Given the description of an element on the screen output the (x, y) to click on. 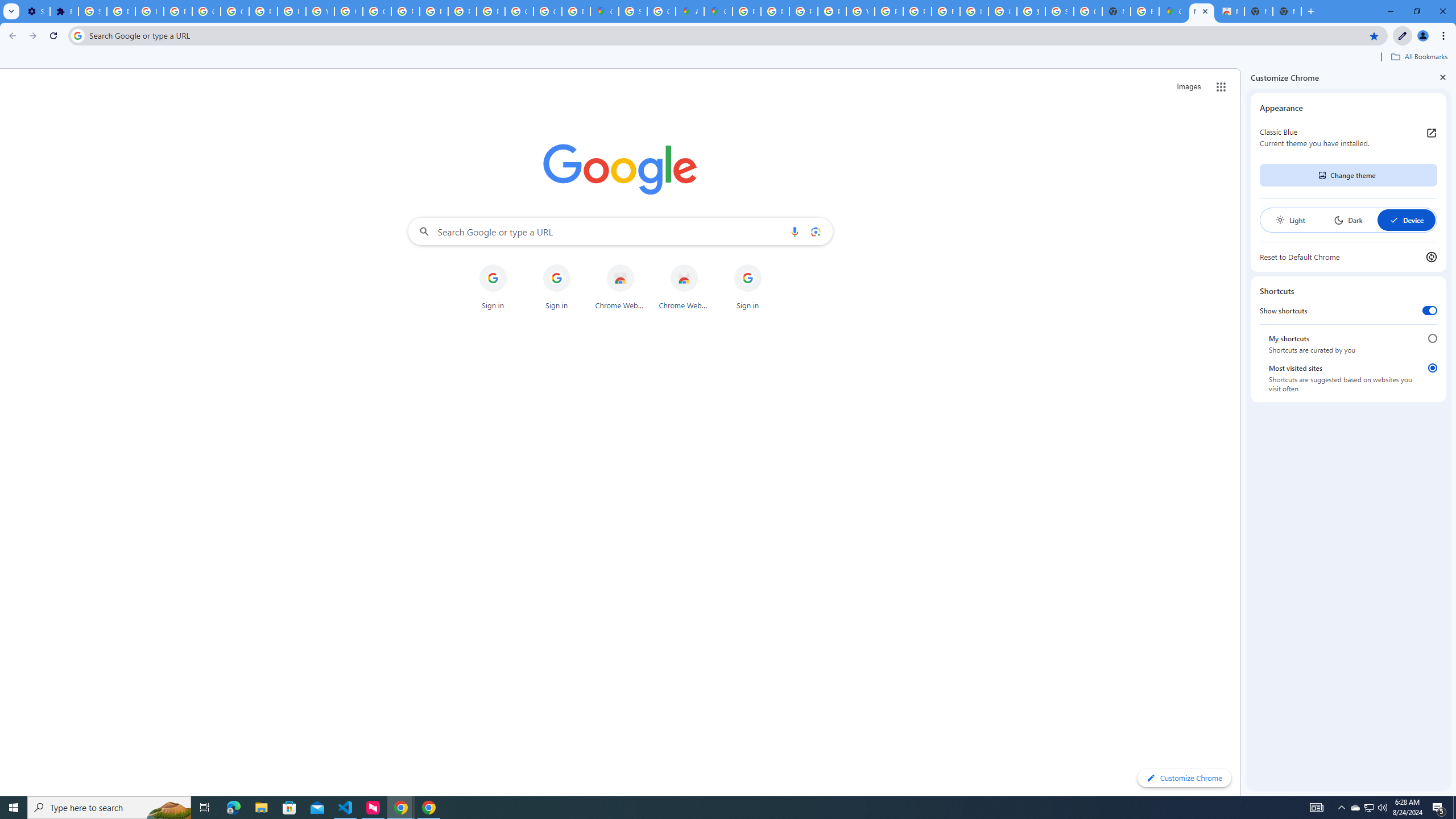
YouTube (860, 11)
All Bookmarks (1418, 56)
Browse Chrome as a guest - Computer - Google Chrome Help (945, 11)
Search for Images  (1188, 87)
Policy Accountability and Transparency - Transparency Center (746, 11)
Privacy Help Center - Policies Help (774, 11)
Create your Google Account (661, 11)
Customize Chrome (1402, 35)
